Given the description of an element on the screen output the (x, y) to click on. 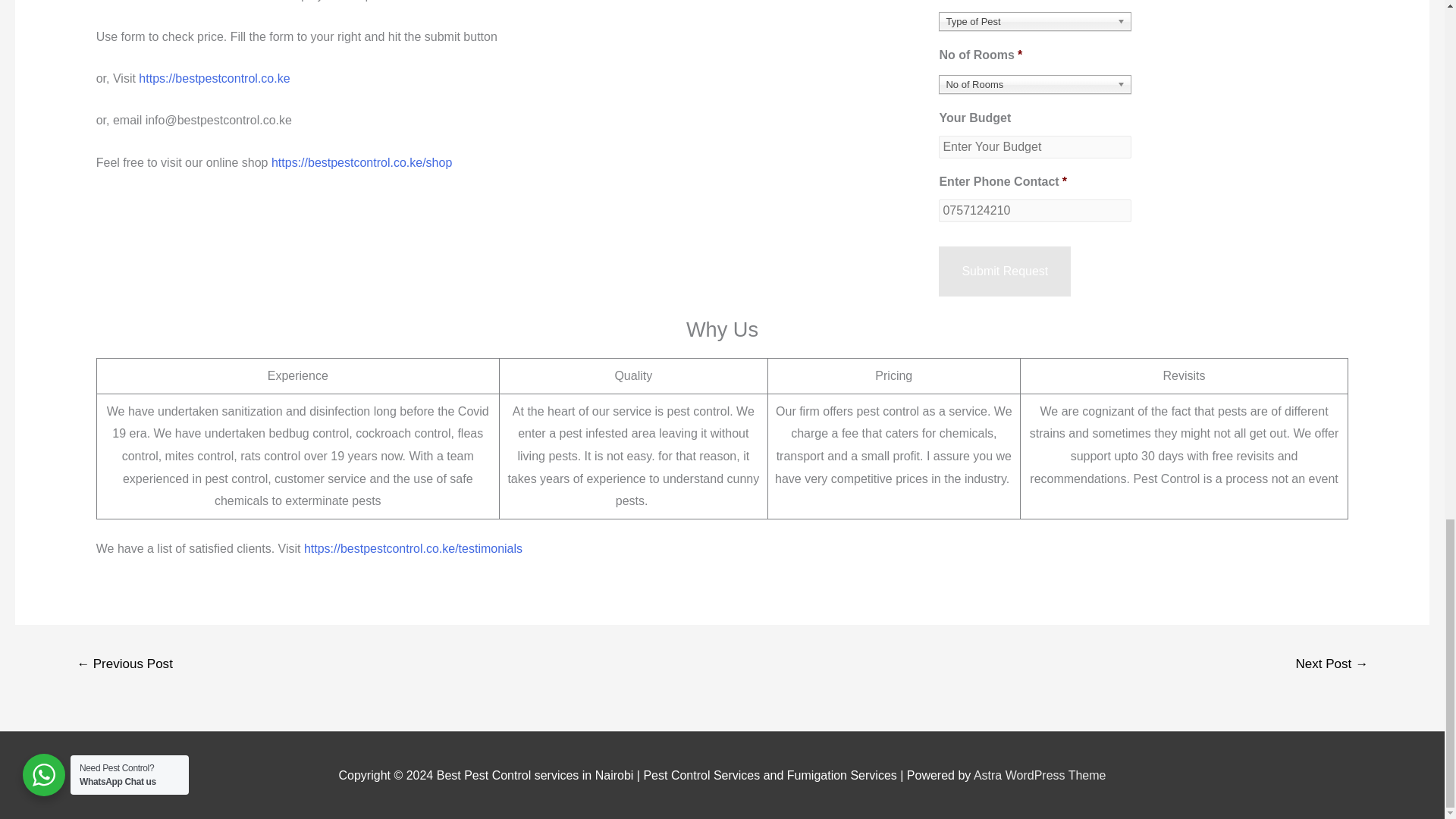
Submit Request (1004, 271)
Astra WordPress Theme (1040, 775)
Type of Pest (1035, 21)
Submit Request (1004, 271)
No of Rooms (1035, 84)
